Given the description of an element on the screen output the (x, y) to click on. 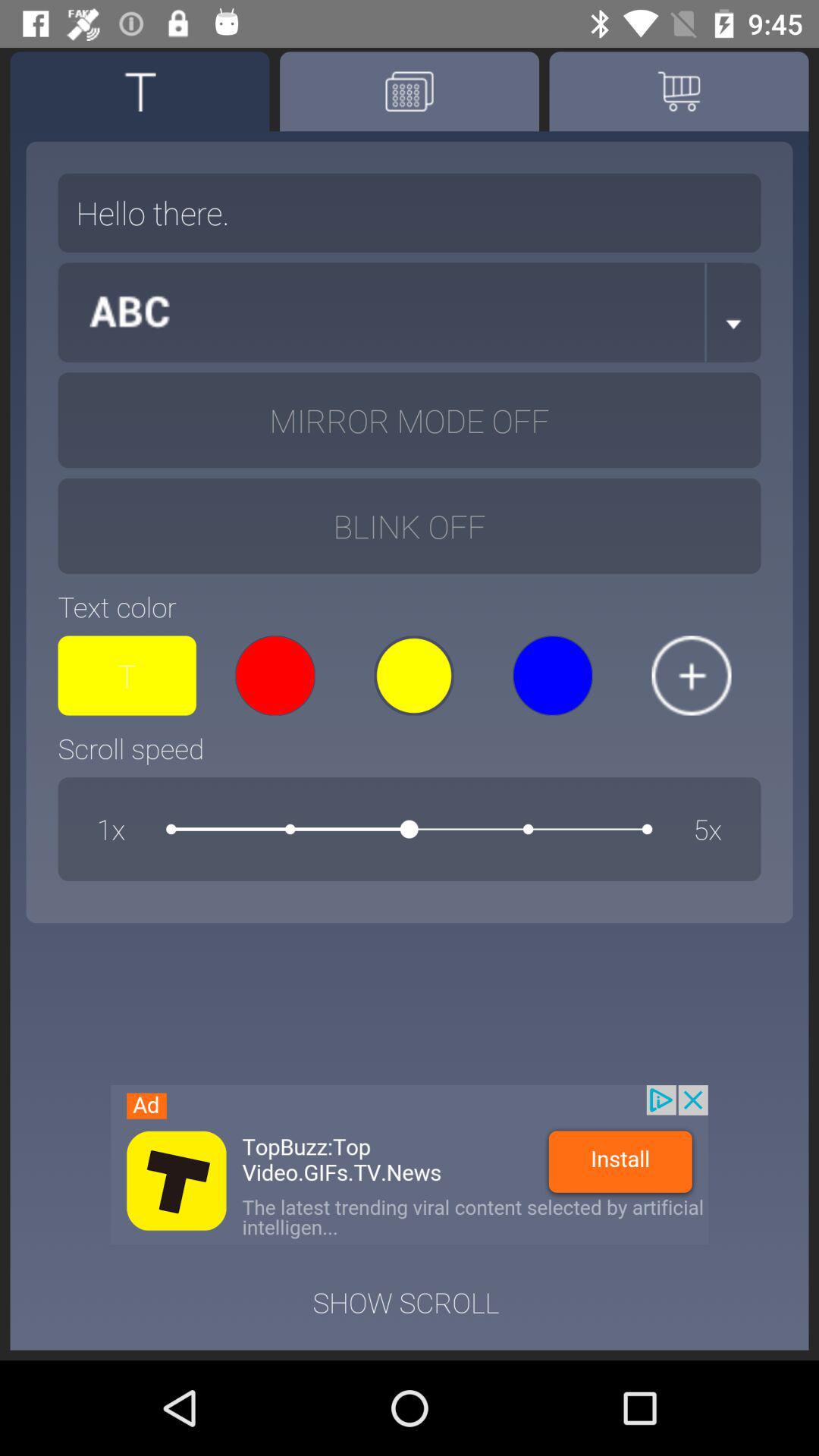
click to add text color (691, 675)
